Given the description of an element on the screen output the (x, y) to click on. 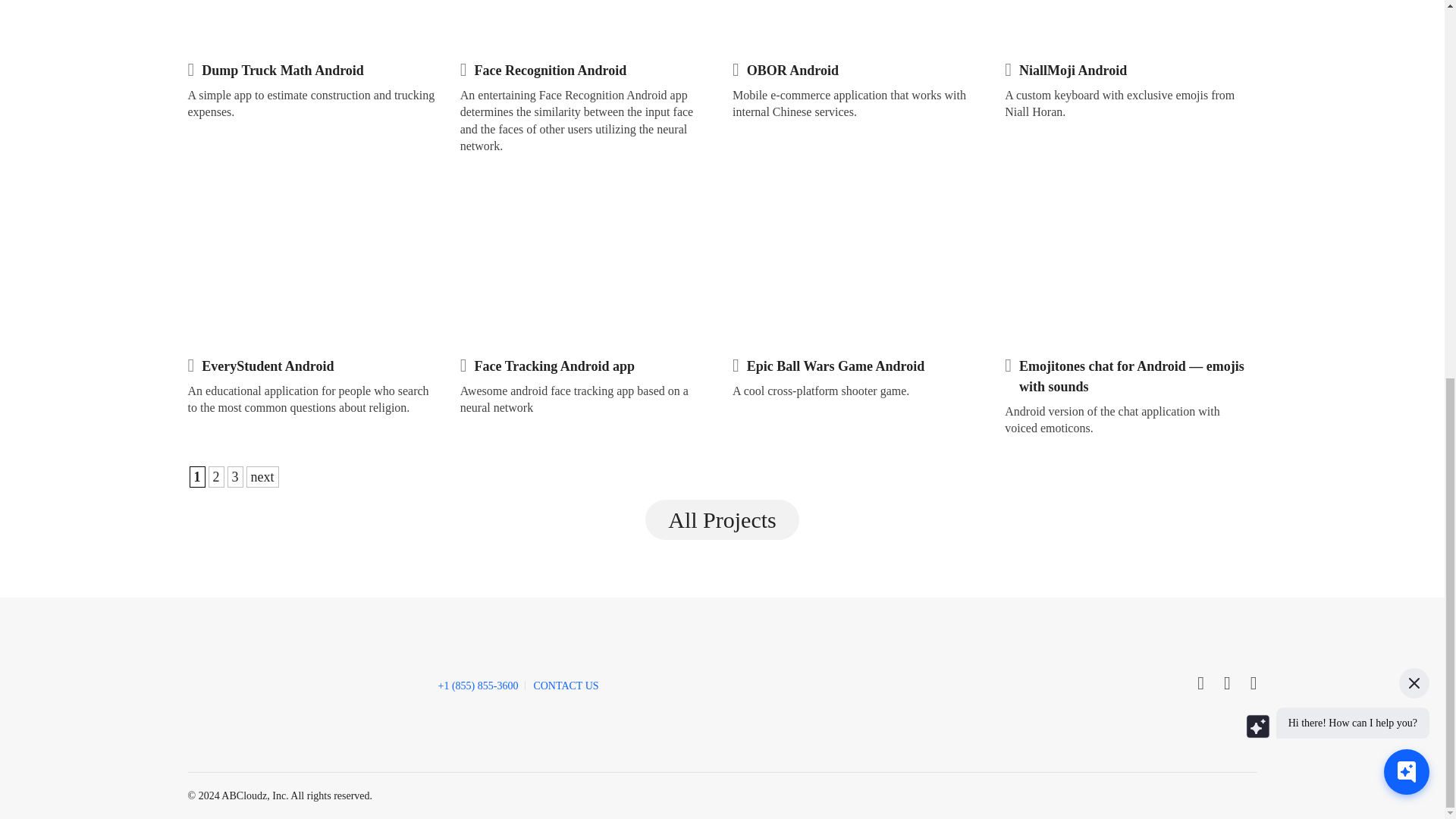
OBOR Android (792, 70)
EveryStudent Android (267, 366)
Face Tracking Android app (554, 366)
next (262, 476)
All Projects (722, 519)
Epic Ball Wars Game Android (835, 366)
Face Recognition Android (550, 70)
Dump Truck Math Android (283, 70)
CONTACT US (565, 685)
NiallMoji Android (1072, 70)
